Given the description of an element on the screen output the (x, y) to click on. 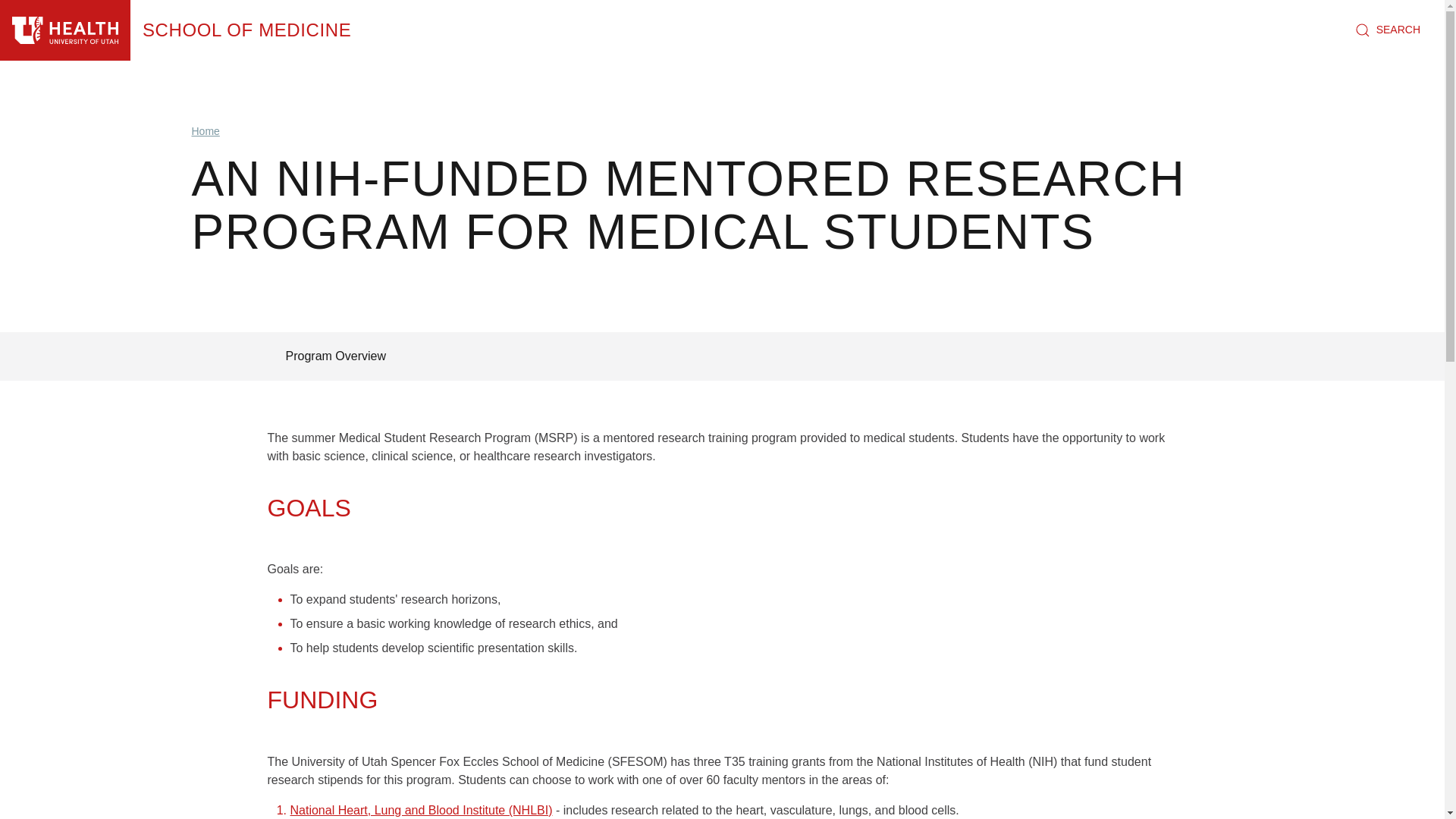
SEARCH (1387, 30)
Home (204, 131)
Home (65, 30)
SCHOOL OF MEDICINE (246, 30)
Home (246, 30)
Program Overview (334, 356)
